Given the description of an element on the screen output the (x, y) to click on. 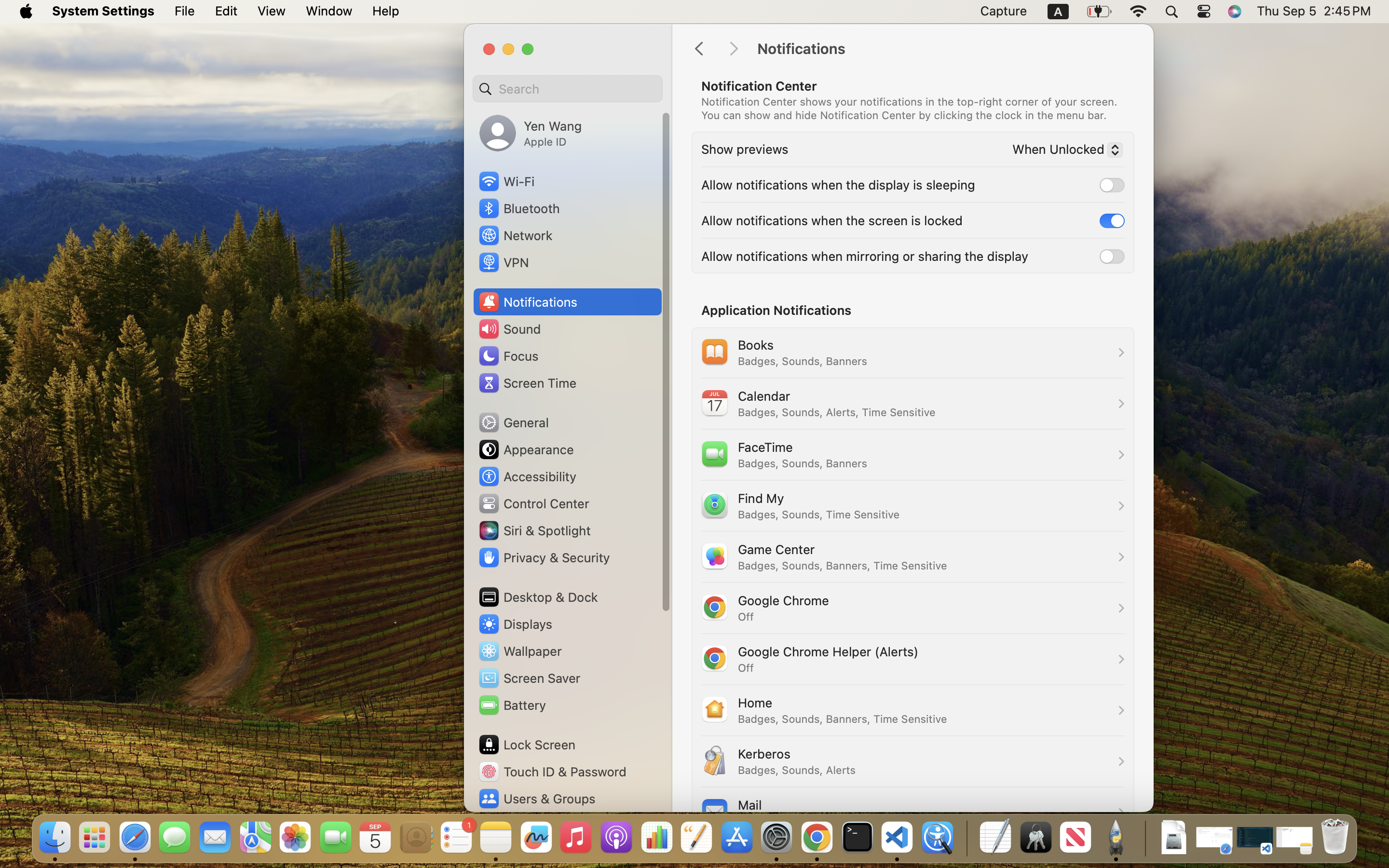
Bluetooth Element type: AXStaticText (518, 207)
Show previews Element type: AXStaticText (744, 148)
Allow notifications when the screen is locked Element type: AXStaticText (831, 219)
Allow notifications when the display is sleeping Element type: AXStaticText (838, 183)
0.4285714328289032 Element type: AXDockItem (965, 837)
